Given the description of an element on the screen output the (x, y) to click on. 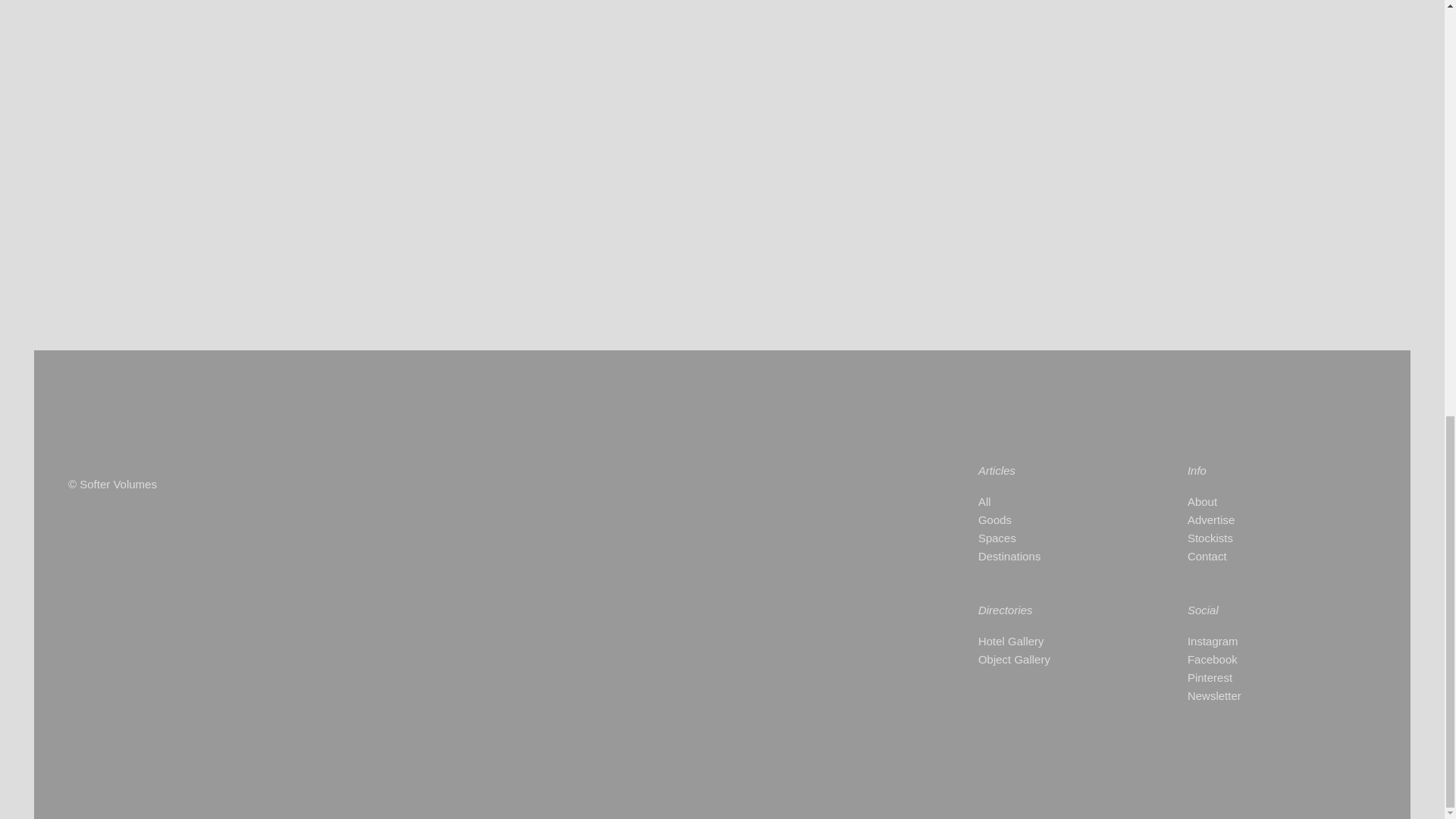
Destinations (1056, 556)
Hotel Gallery (1056, 641)
Pinterest (1262, 678)
Goods (1056, 520)
Stockists (1262, 538)
Object Gallery (1056, 659)
Contact (1262, 556)
All (1056, 502)
Advertise (1262, 520)
About (1262, 502)
